Given the description of an element on the screen output the (x, y) to click on. 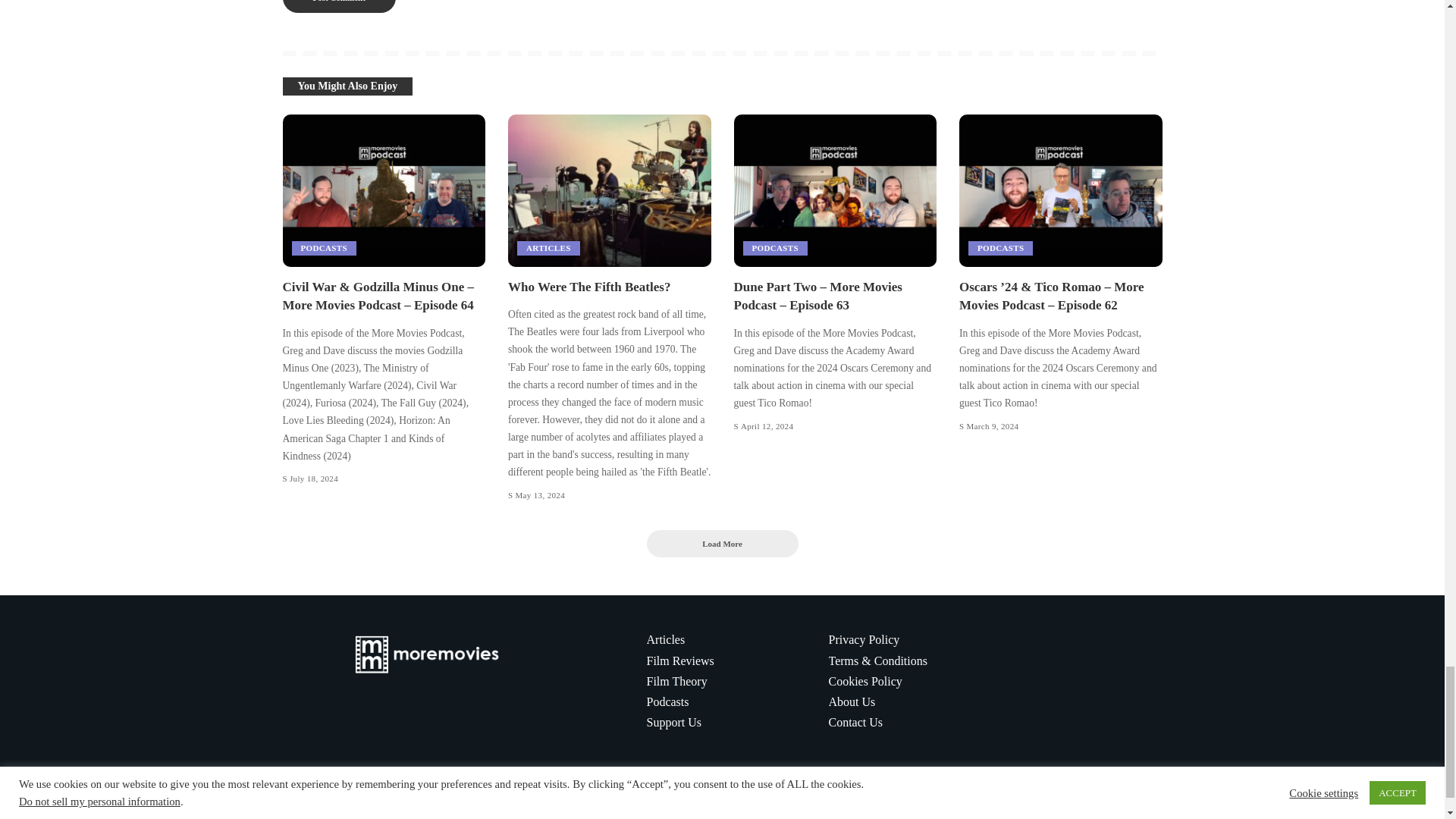
Post Comment (338, 6)
